Given the description of an element on the screen output the (x, y) to click on. 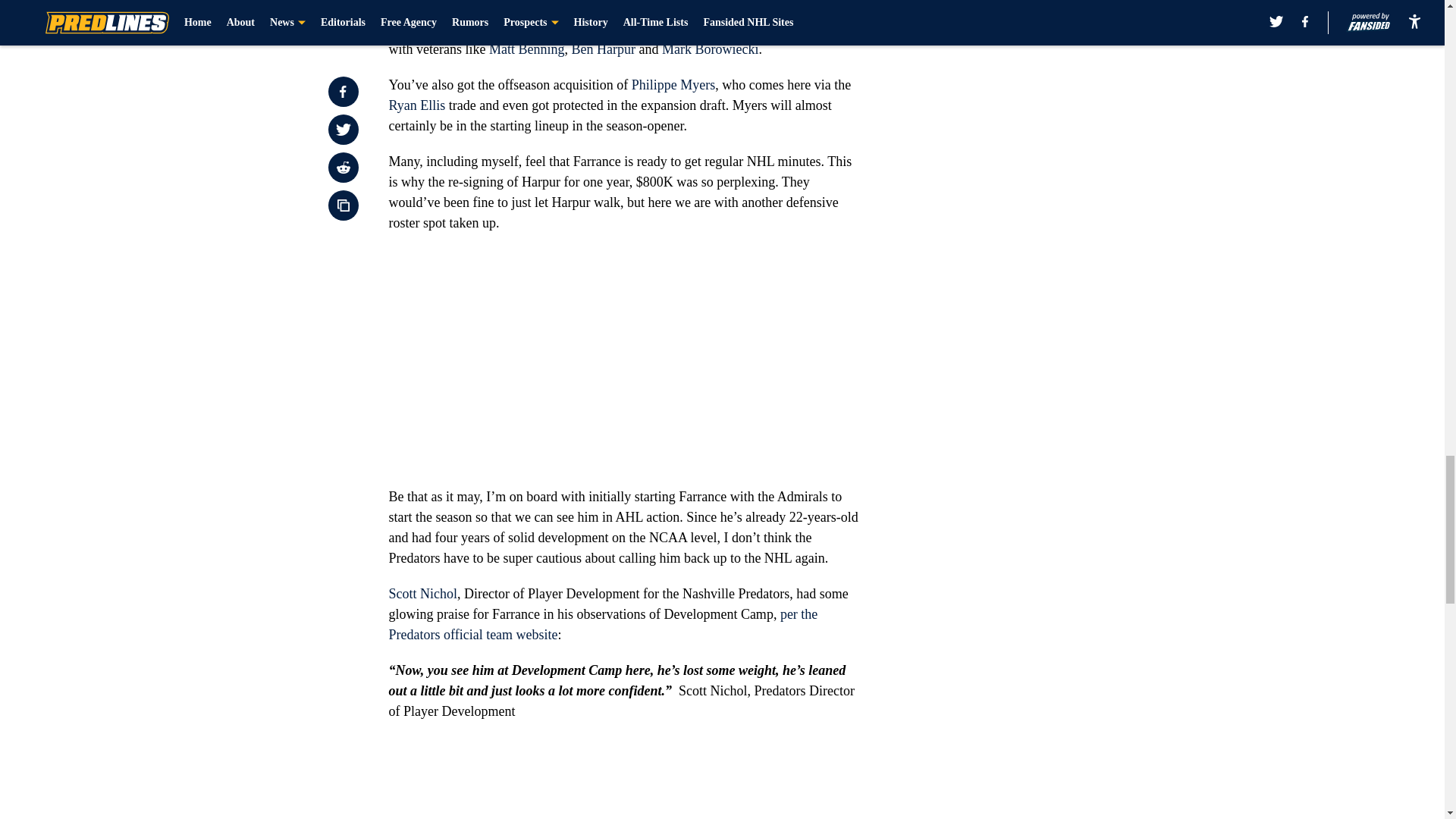
Ryan Ellis (416, 105)
Mark Borowiecki (710, 48)
per the Predators official team website (602, 624)
Philippe Myers (673, 84)
Ben Harpur (602, 48)
Scott Nichol (422, 593)
Matt Benning (526, 48)
